Given the description of an element on the screen output the (x, y) to click on. 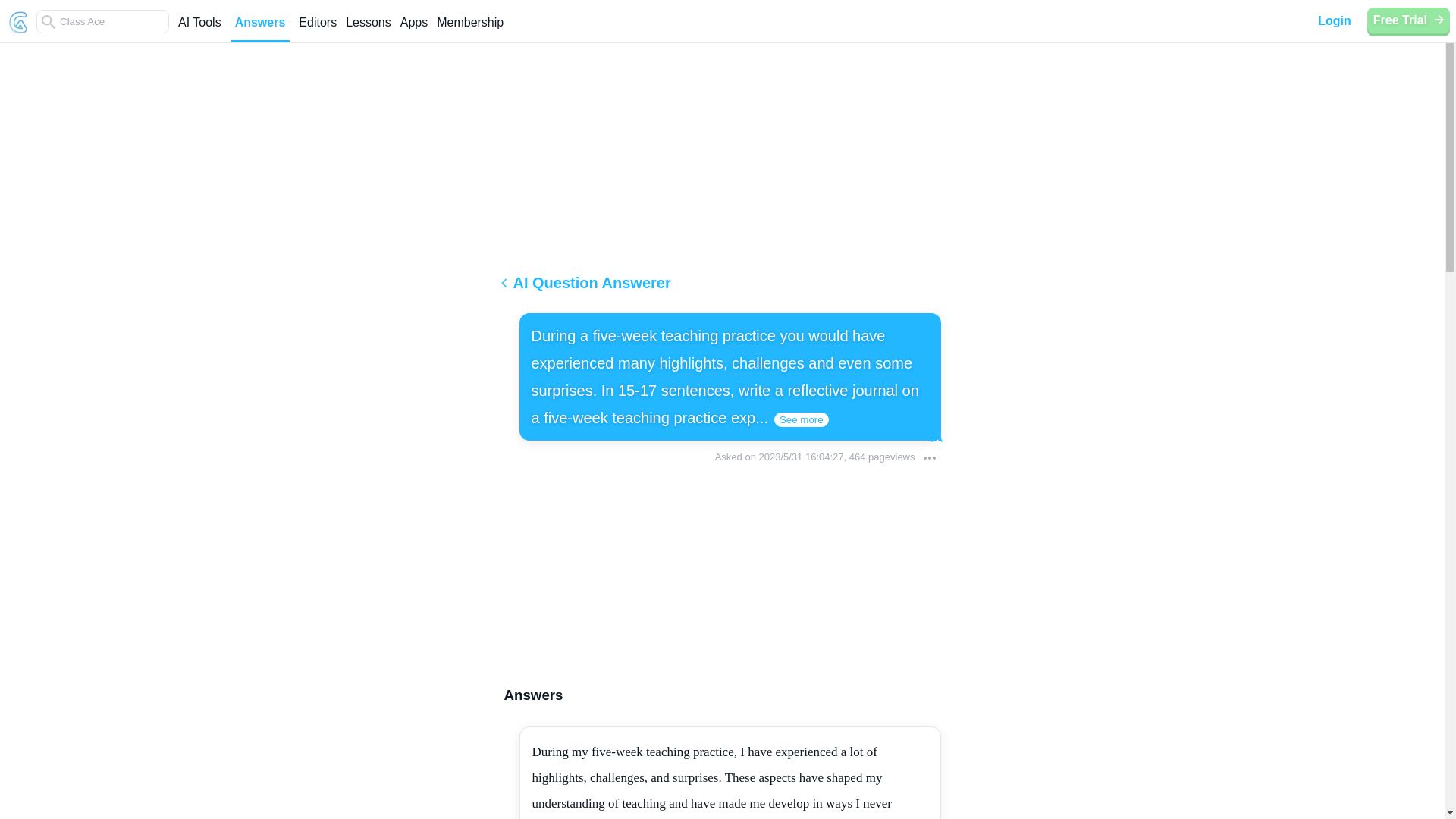
Login (1334, 21)
Free Trial (1408, 20)
Apps (414, 28)
Lessons (368, 28)
See more (801, 419)
AI Tools (199, 28)
AI Question Answerer (722, 288)
Membership (469, 28)
Editors (317, 28)
Answers (259, 28)
